Given the description of an element on the screen output the (x, y) to click on. 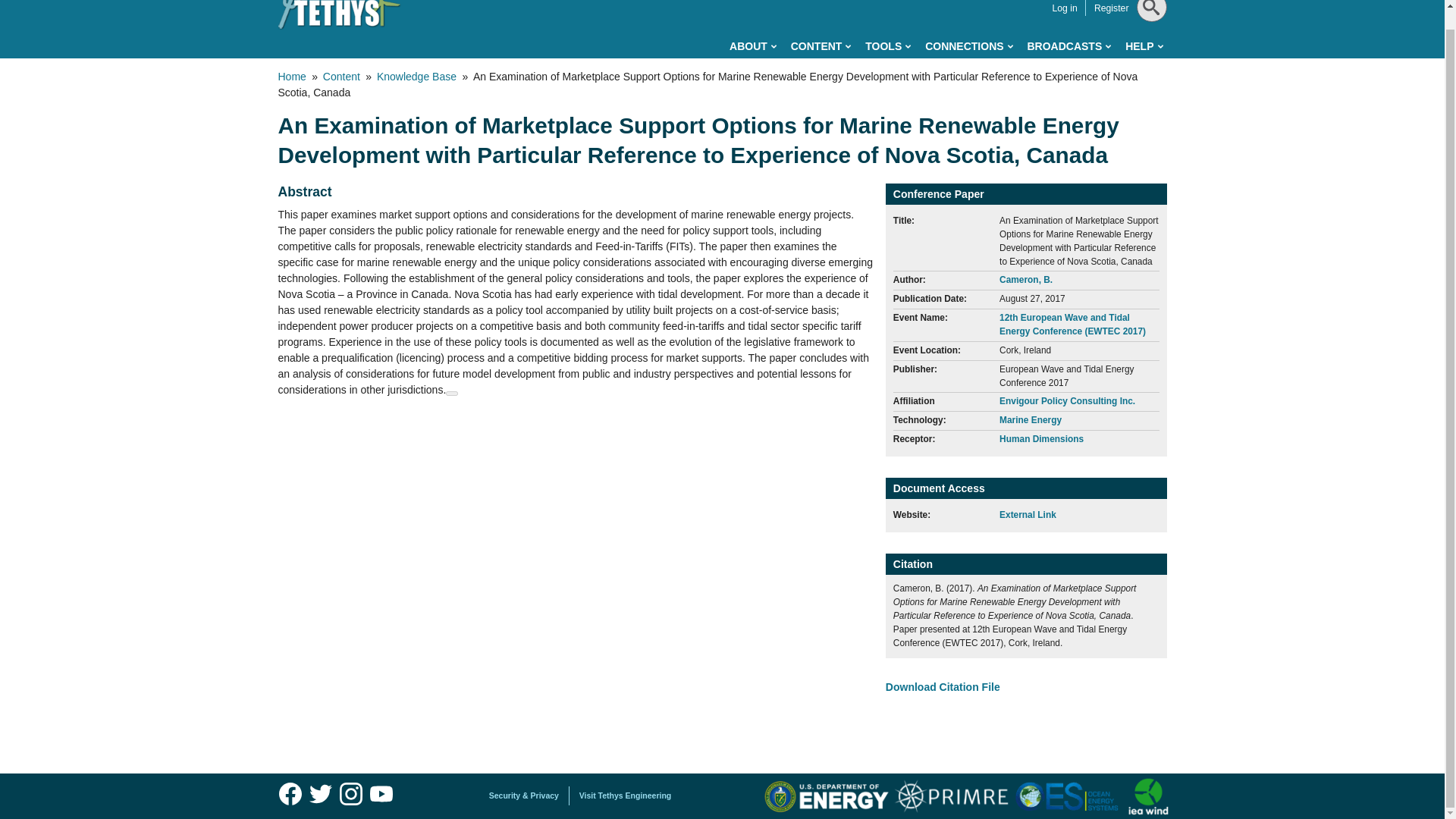
HELP (1143, 46)
BROADCASTS (1068, 46)
TOOLS (887, 46)
ABOUT (752, 46)
Search (1148, 44)
Keyboard shortcuts (451, 393)
Home (339, 15)
Search (1148, 44)
Register (1111, 8)
Log in (1064, 8)
CONTENT (820, 46)
CONNECTIONS (967, 46)
